Given the description of an element on the screen output the (x, y) to click on. 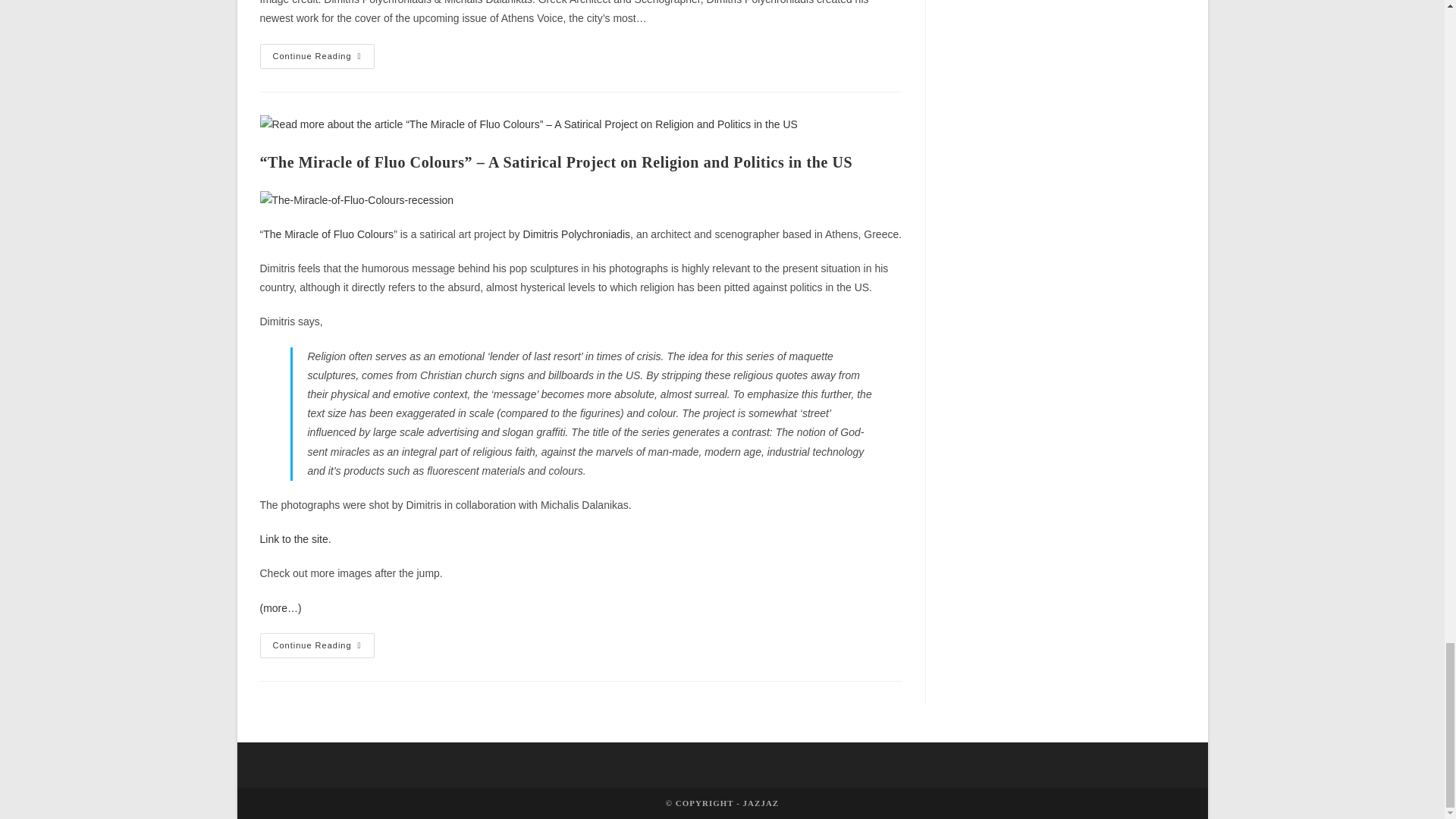
Dimitris Polychroniadis (576, 234)
The Miracle of Fluo Colours (293, 539)
The-Miracle-of-Fluo-Colours-recession (355, 199)
The Miracle of Fluo Colours (328, 234)
